Given the description of an element on the screen output the (x, y) to click on. 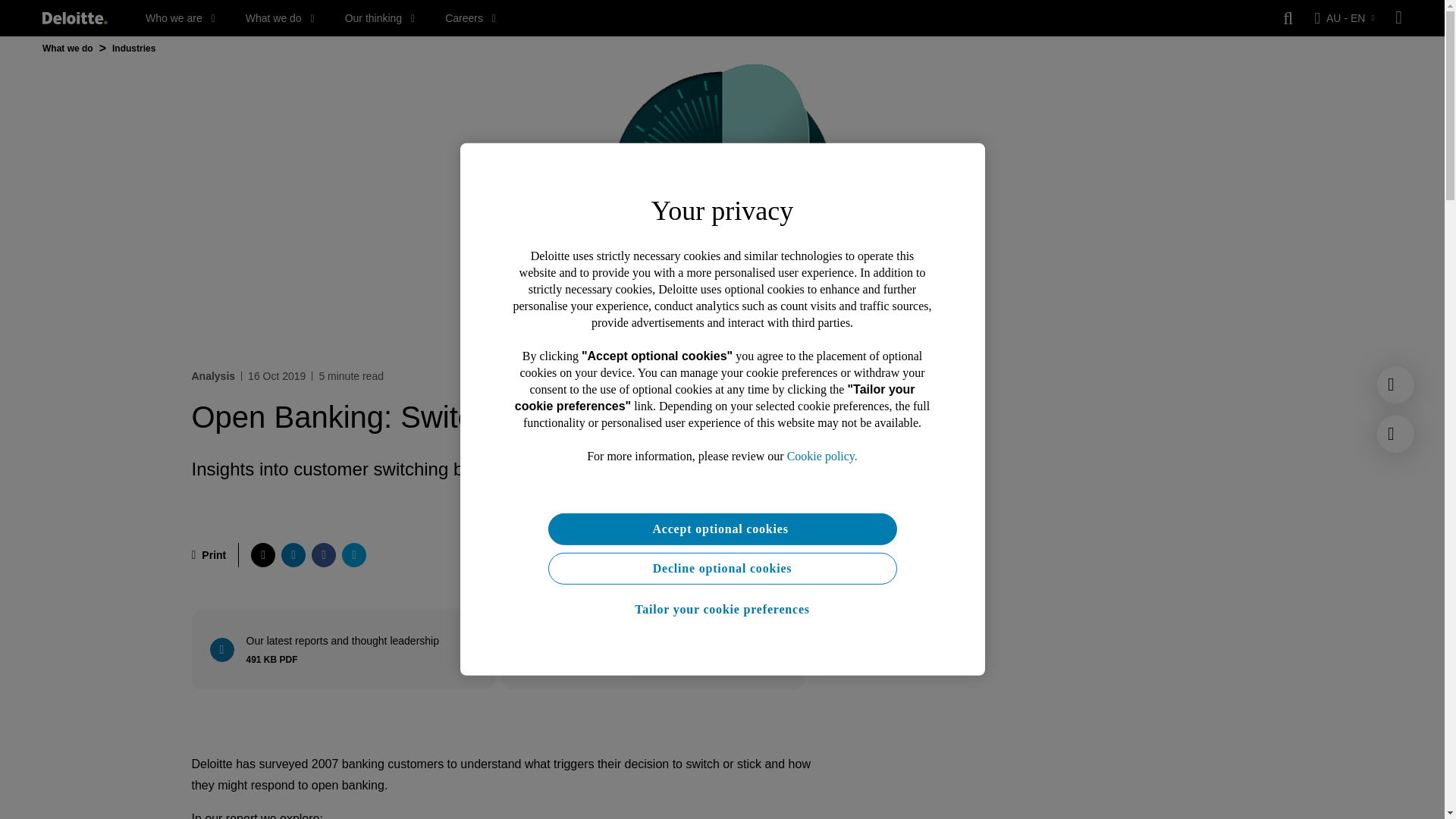
share via linkedin (655, 649)
Who we are (293, 554)
Our thinking (180, 18)
What we do (379, 18)
share via twitter (280, 18)
Deloitte (262, 554)
Print (74, 18)
share via email (345, 649)
share via facebook (207, 554)
Careers (354, 554)
